Given the description of an element on the screen output the (x, y) to click on. 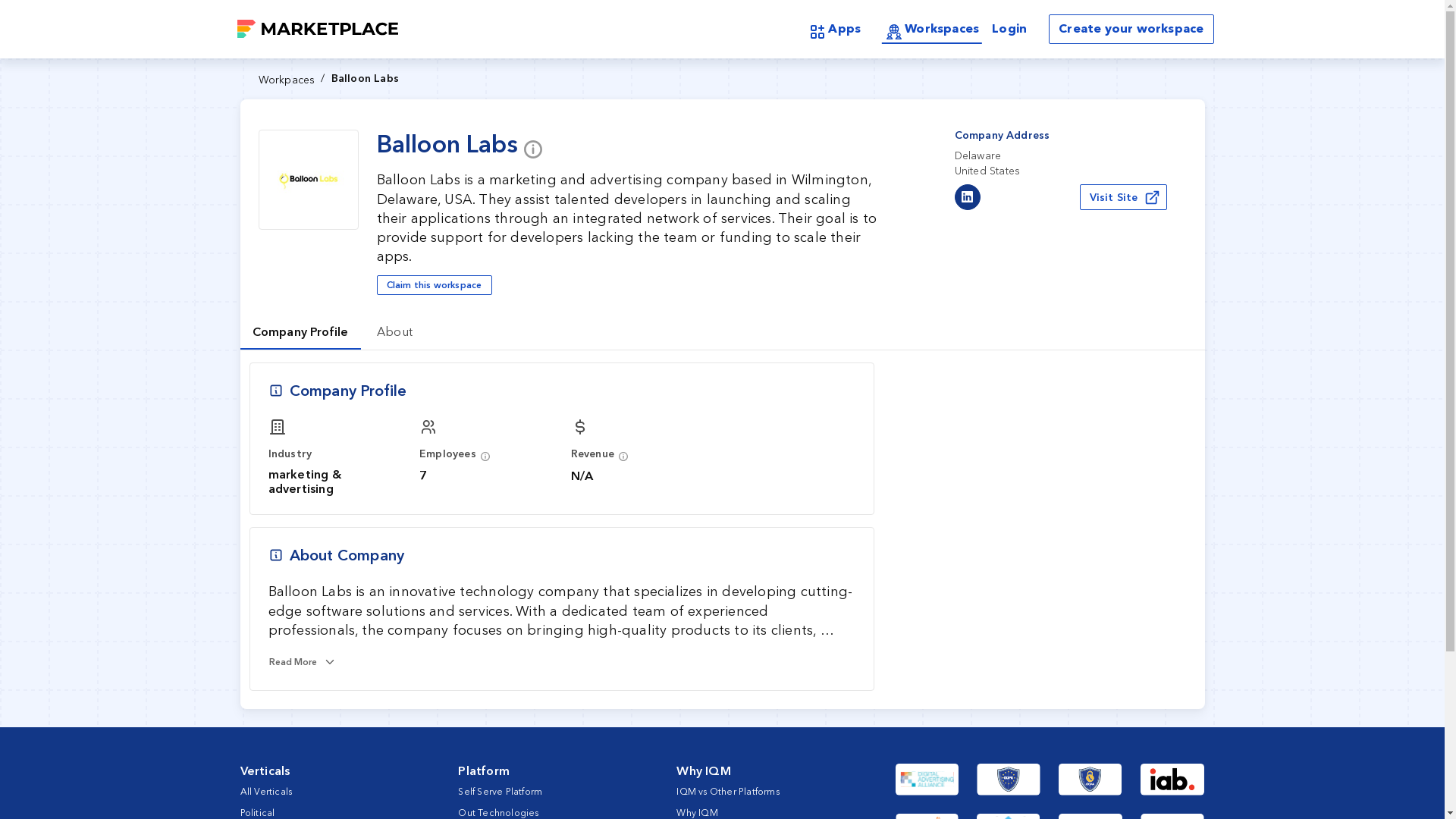
Company Profile (722, 330)
About (299, 330)
Workpaces (395, 330)
Political (285, 79)
Out Technologies (257, 812)
Claim this workspace (498, 812)
Create your workspace (433, 284)
Self Serve Platform (1130, 28)
Login (499, 790)
IQM vs Other Platforms (1008, 28)
Apps (727, 790)
Visit Site (834, 30)
All Verticals (1123, 196)
Read More (266, 790)
